Given the description of an element on the screen output the (x, y) to click on. 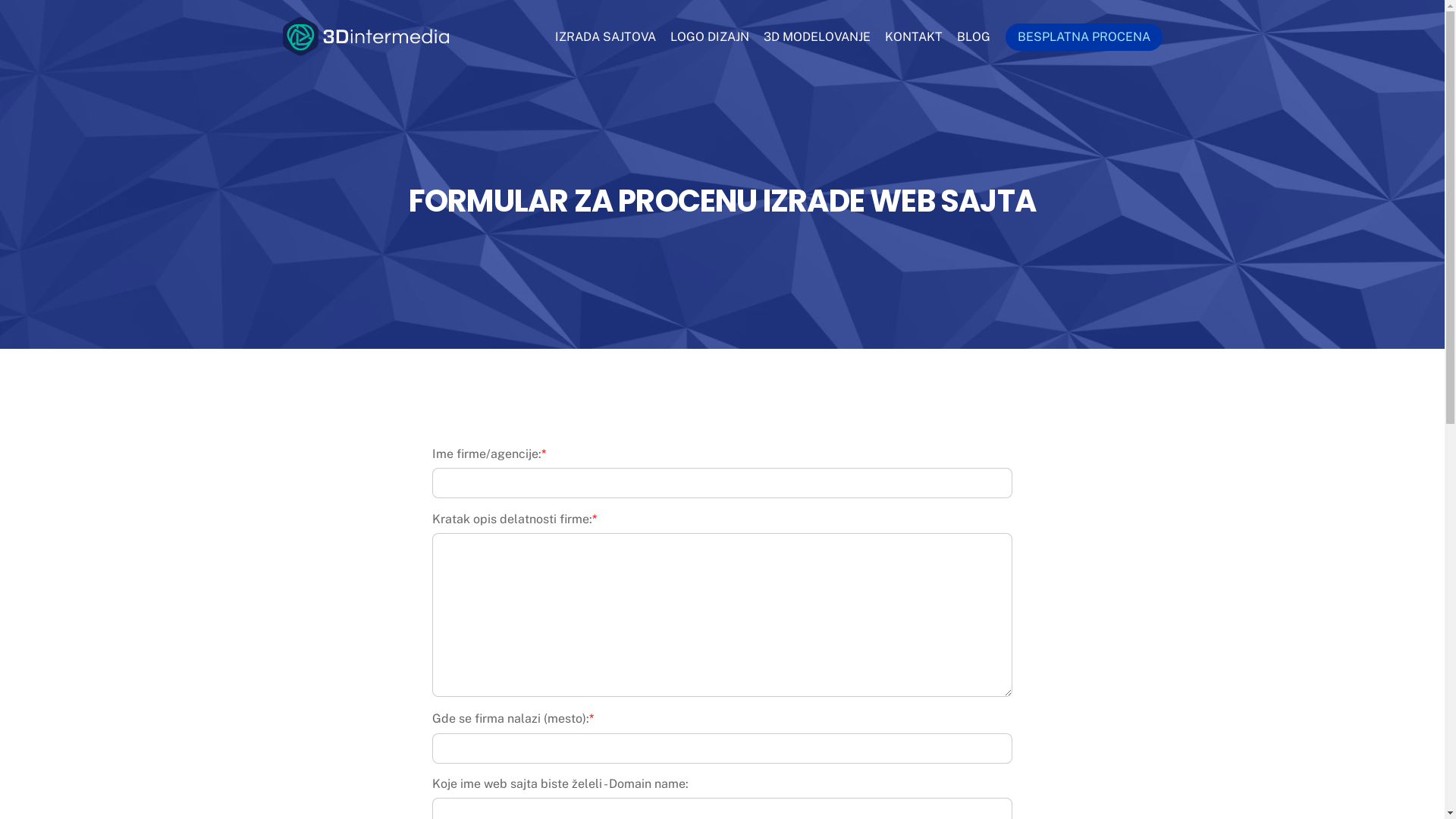
IZRADA SAJTOVA Element type: text (604, 33)
LOGO DIZAJN Element type: text (709, 33)
3D Intermedia Element type: hover (365, 49)
3DI-logo Element type: hover (365, 35)
BLOG Element type: text (973, 33)
KONTAKT Element type: text (914, 33)
3D MODELOVANJE Element type: text (816, 33)
BESPLATNA PROCENA Element type: text (1083, 36)
